Given the description of an element on the screen output the (x, y) to click on. 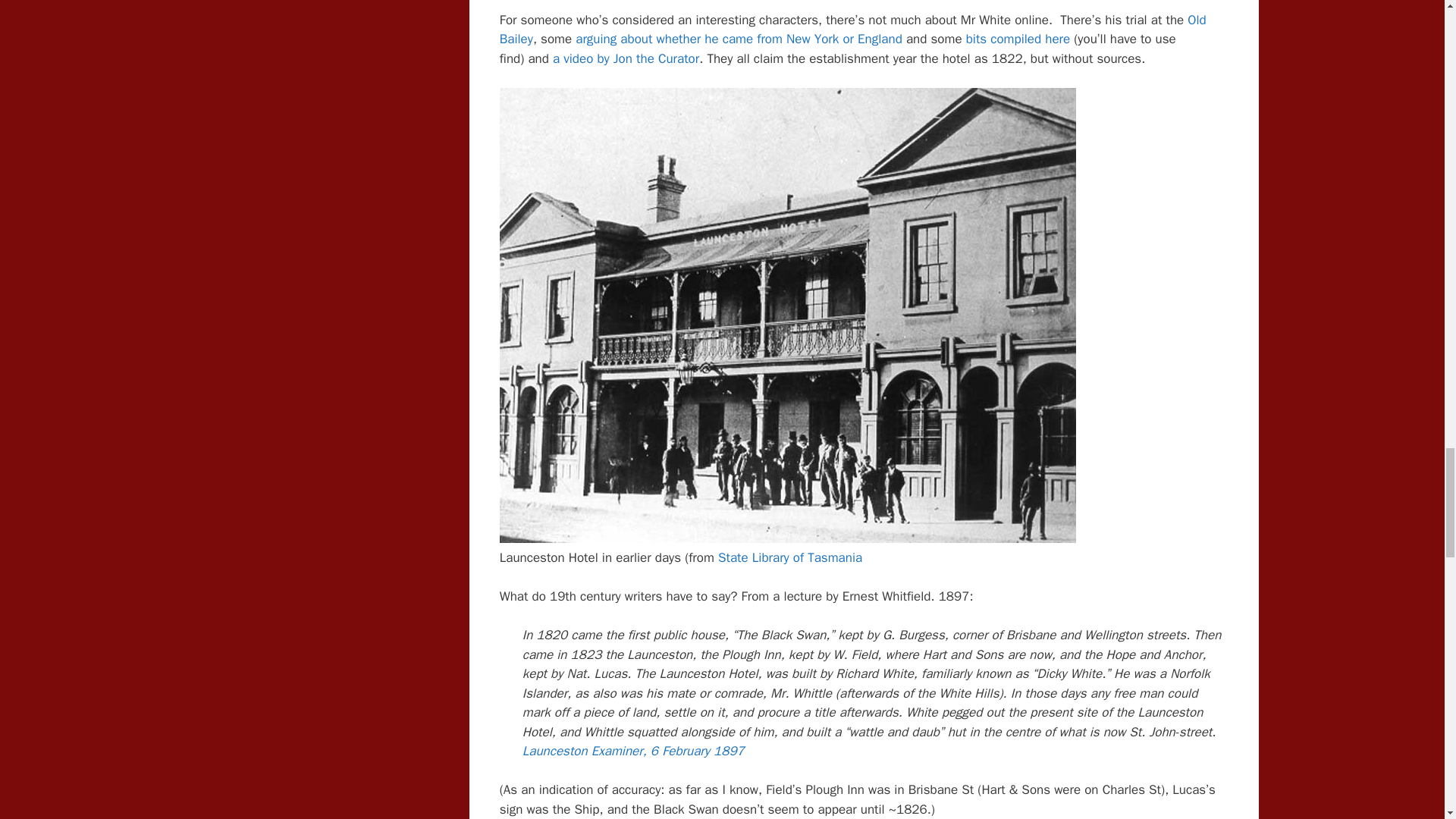
State Library of Tasmania (789, 557)
bits compiled here (1018, 38)
a video by Jon the Curator (625, 58)
Old Bailey (853, 29)
arguing about whether he came from New York or England (738, 38)
Launceston Examiner, 6 February 1897 (633, 750)
